Given the description of an element on the screen output the (x, y) to click on. 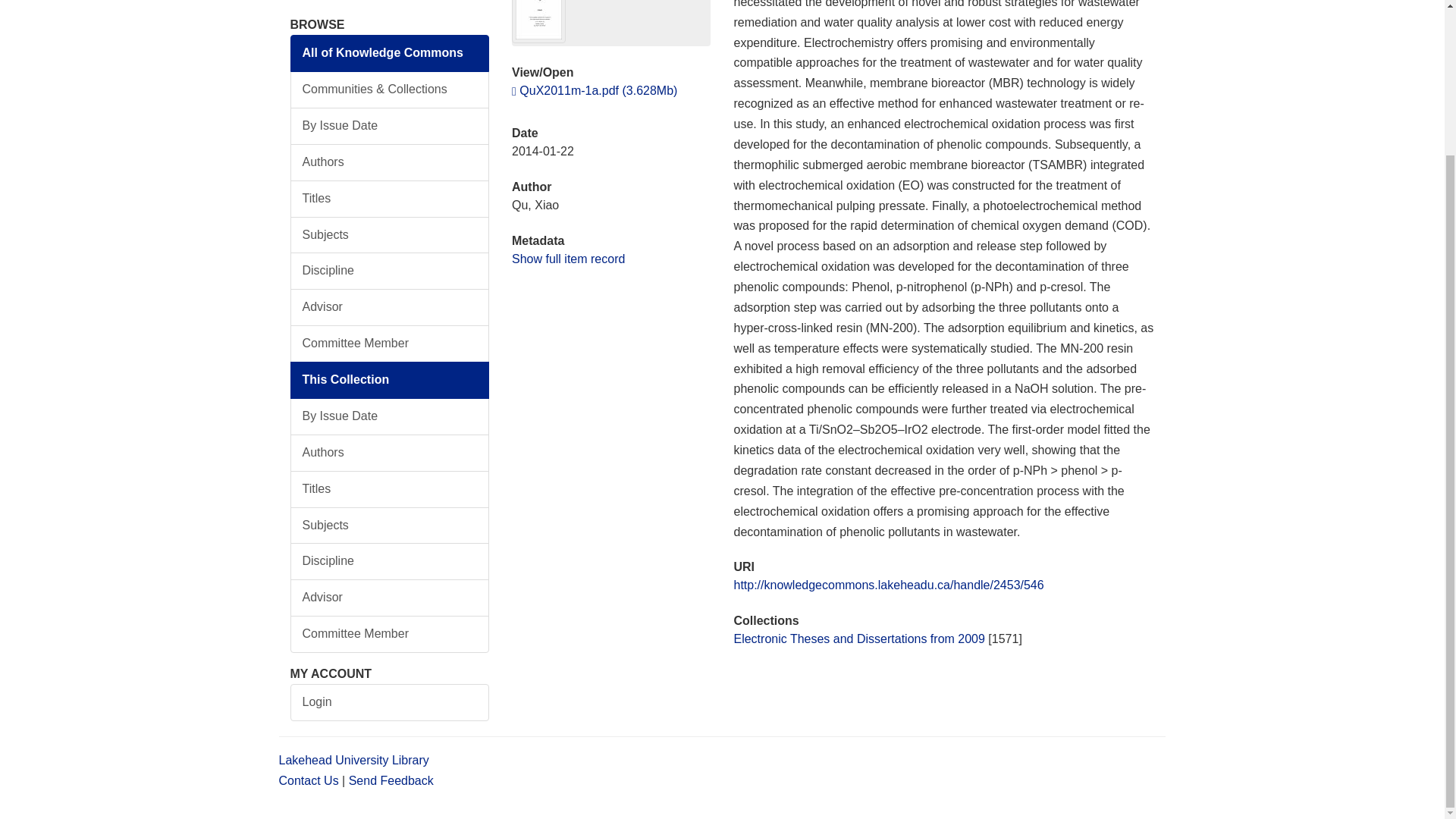
Advisor (389, 307)
Advisor (389, 597)
By Issue Date (389, 125)
Subjects (389, 235)
This Collection (389, 379)
Committee Member (389, 633)
Login (389, 702)
Discipline (389, 560)
Authors (389, 452)
Subjects (389, 525)
Committee Member (389, 343)
Authors (389, 162)
Electronic Theses and Dissertations from 2009 (858, 638)
Titles (389, 198)
By Issue Date (389, 416)
